Given the description of an element on the screen output the (x, y) to click on. 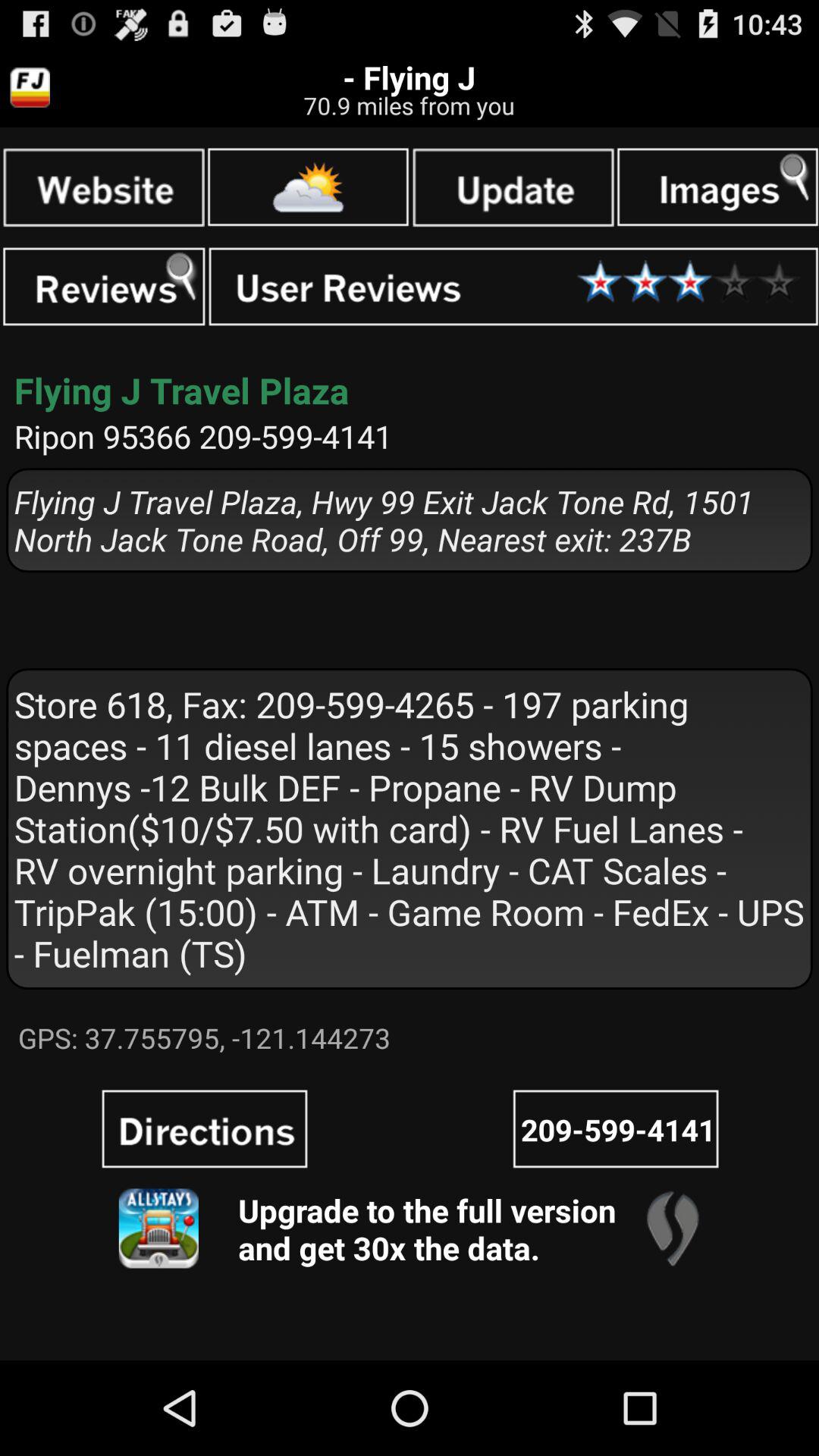
go to the directions option (204, 1128)
